Given the description of an element on the screen output the (x, y) to click on. 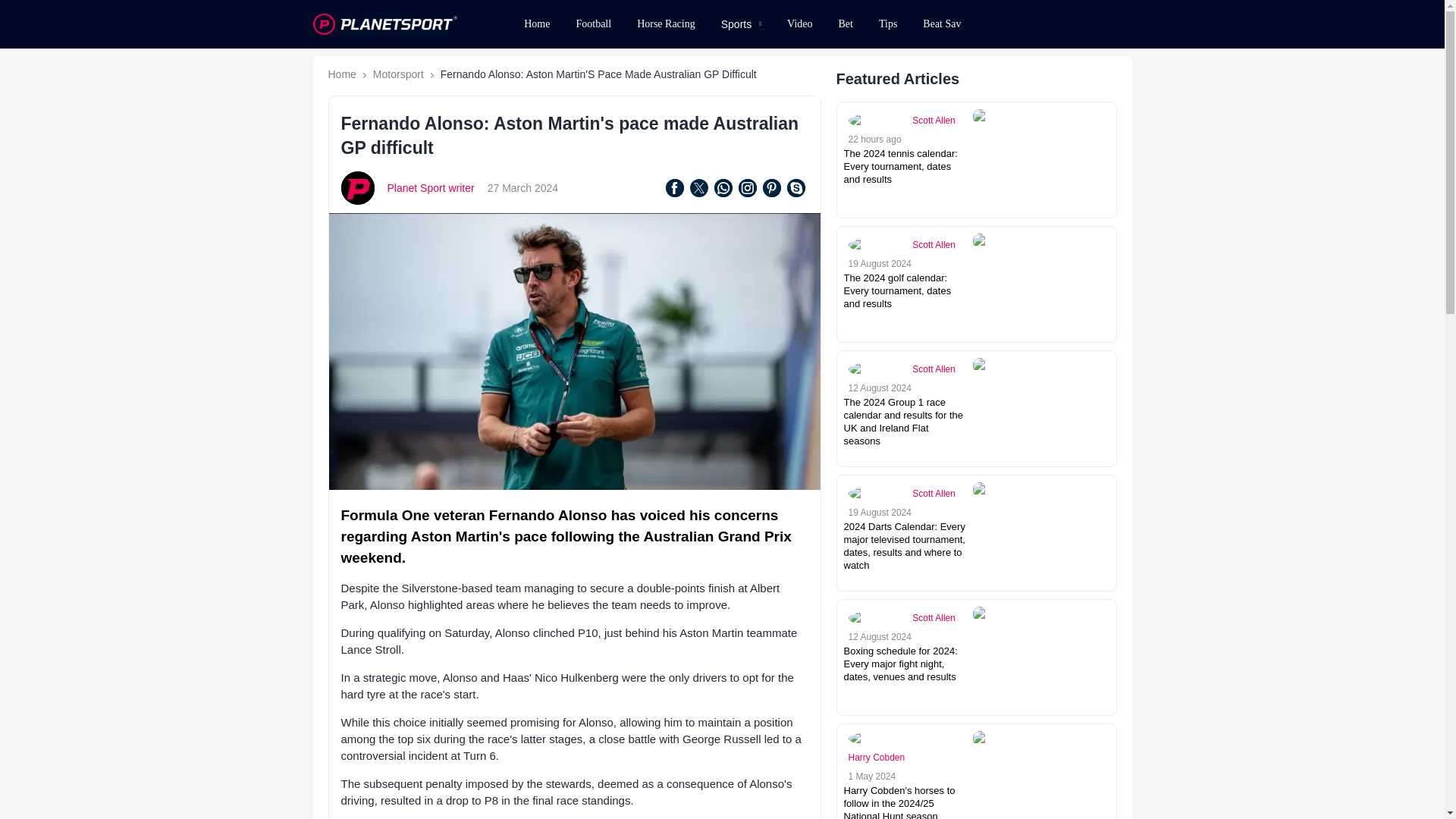
Horse Racing (665, 24)
Beat Sav (942, 24)
Video (799, 24)
Home (536, 24)
Tips (888, 24)
Home (341, 73)
Motorsport (397, 73)
Football (593, 24)
Planet Sport writer (430, 187)
